Given the description of an element on the screen output the (x, y) to click on. 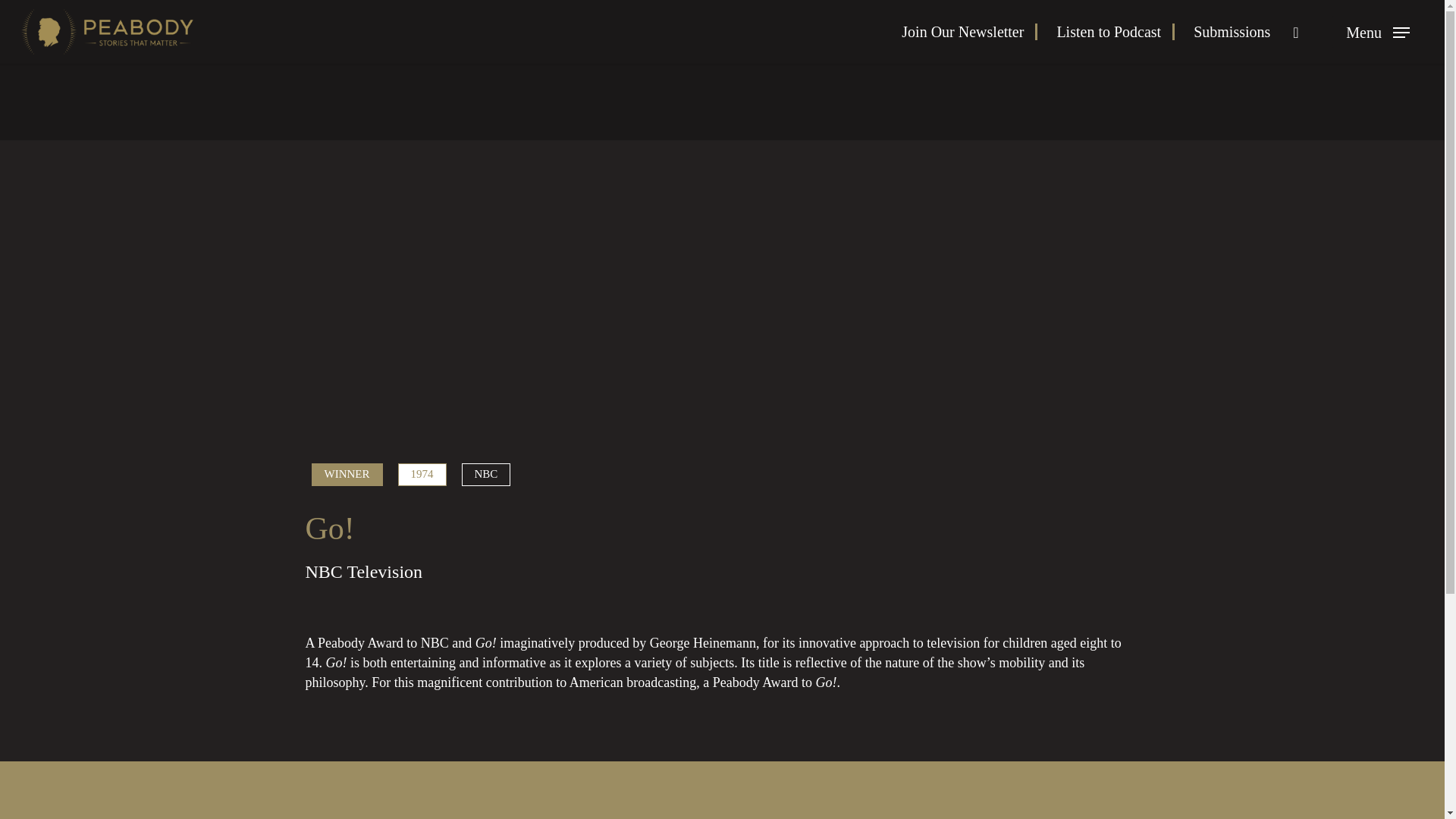
Menu (1377, 31)
Submissions (1231, 31)
Listen to Podcast (1115, 31)
NBC (486, 474)
Join Our Newsletter (968, 31)
